Given the description of an element on the screen output the (x, y) to click on. 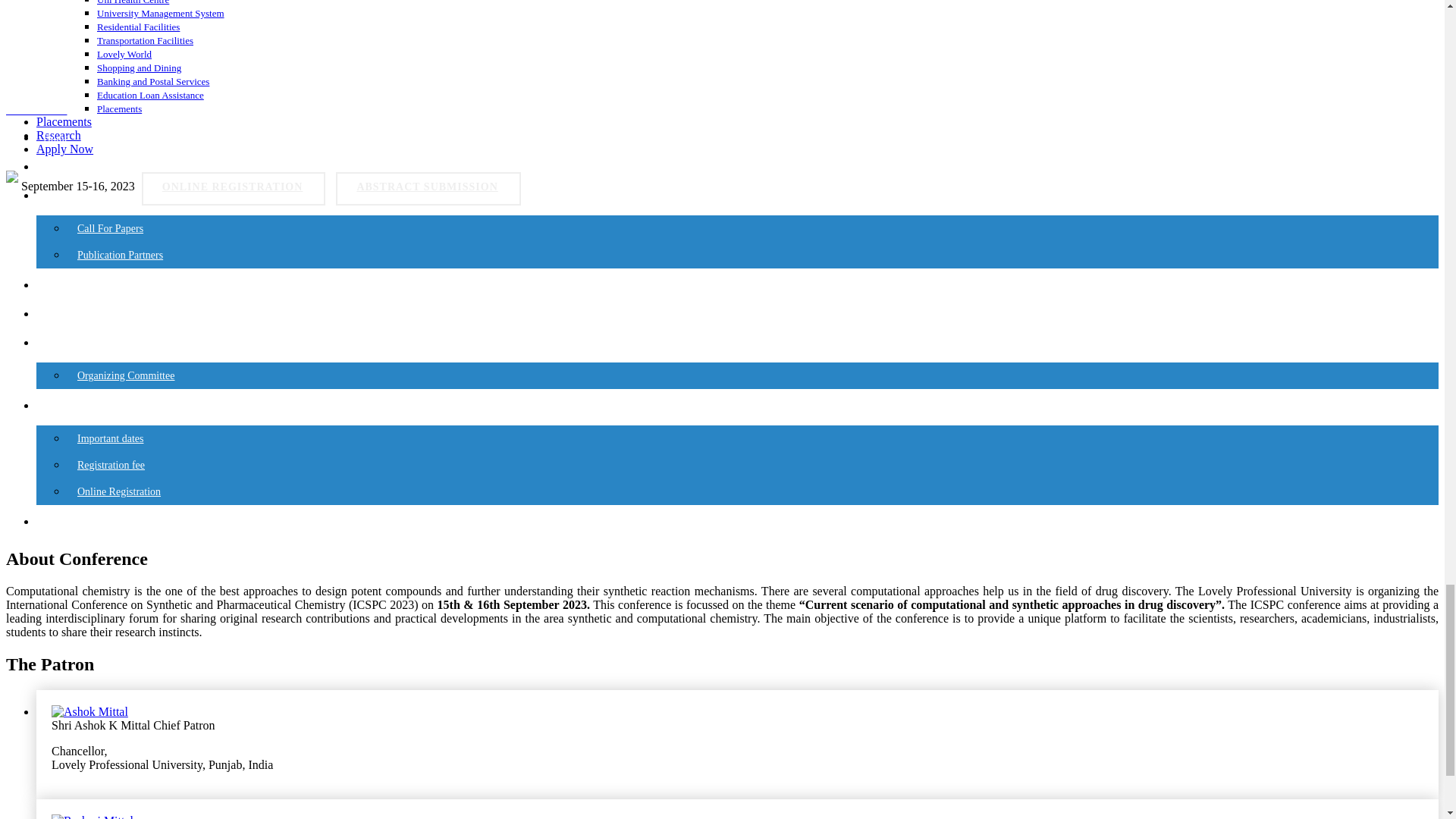
Apply Now (217, 149)
